Given the description of an element on the screen output the (x, y) to click on. 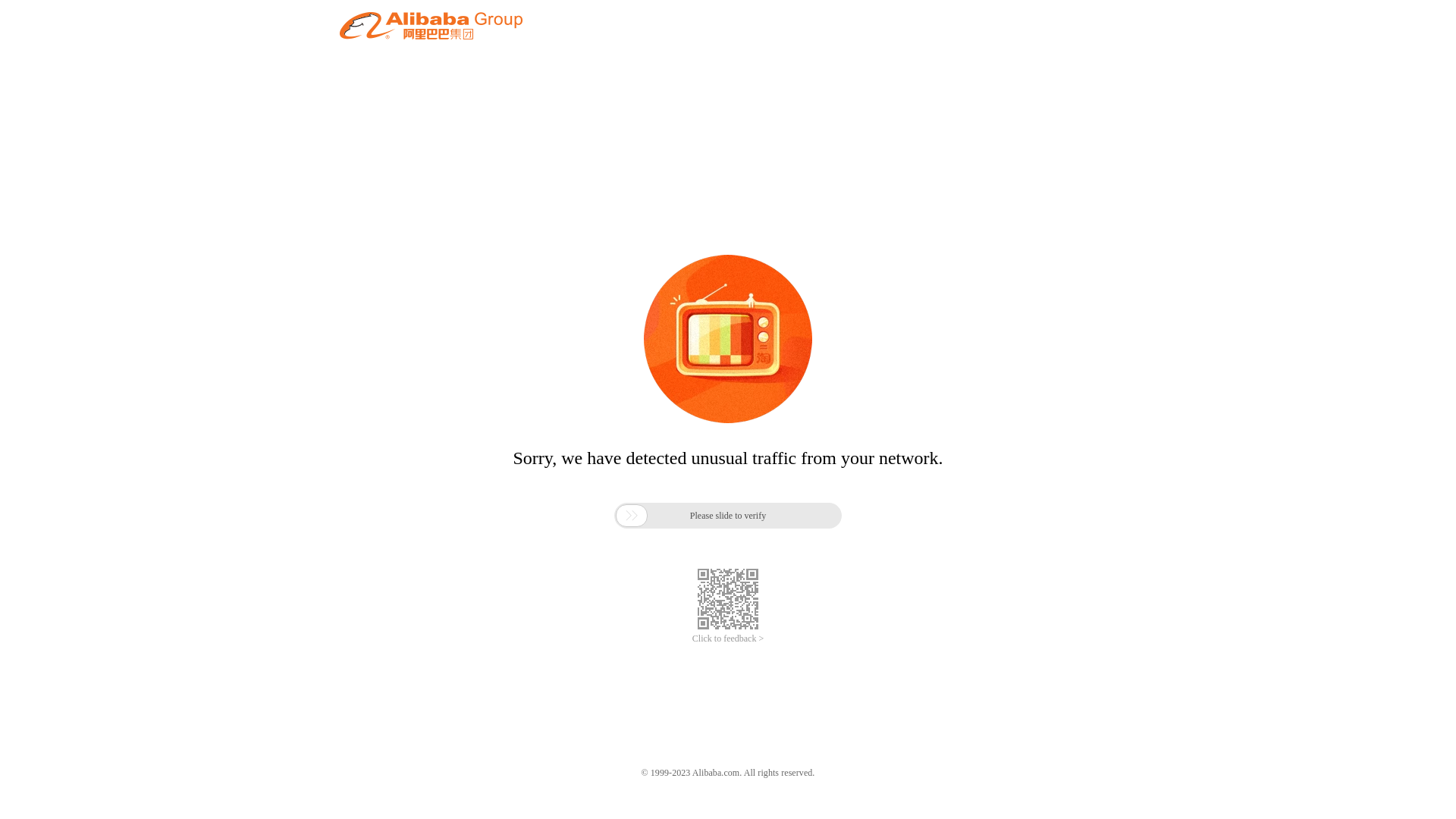
Click to feedback > Element type: text (727, 638)
